Given the description of an element on the screen output the (x, y) to click on. 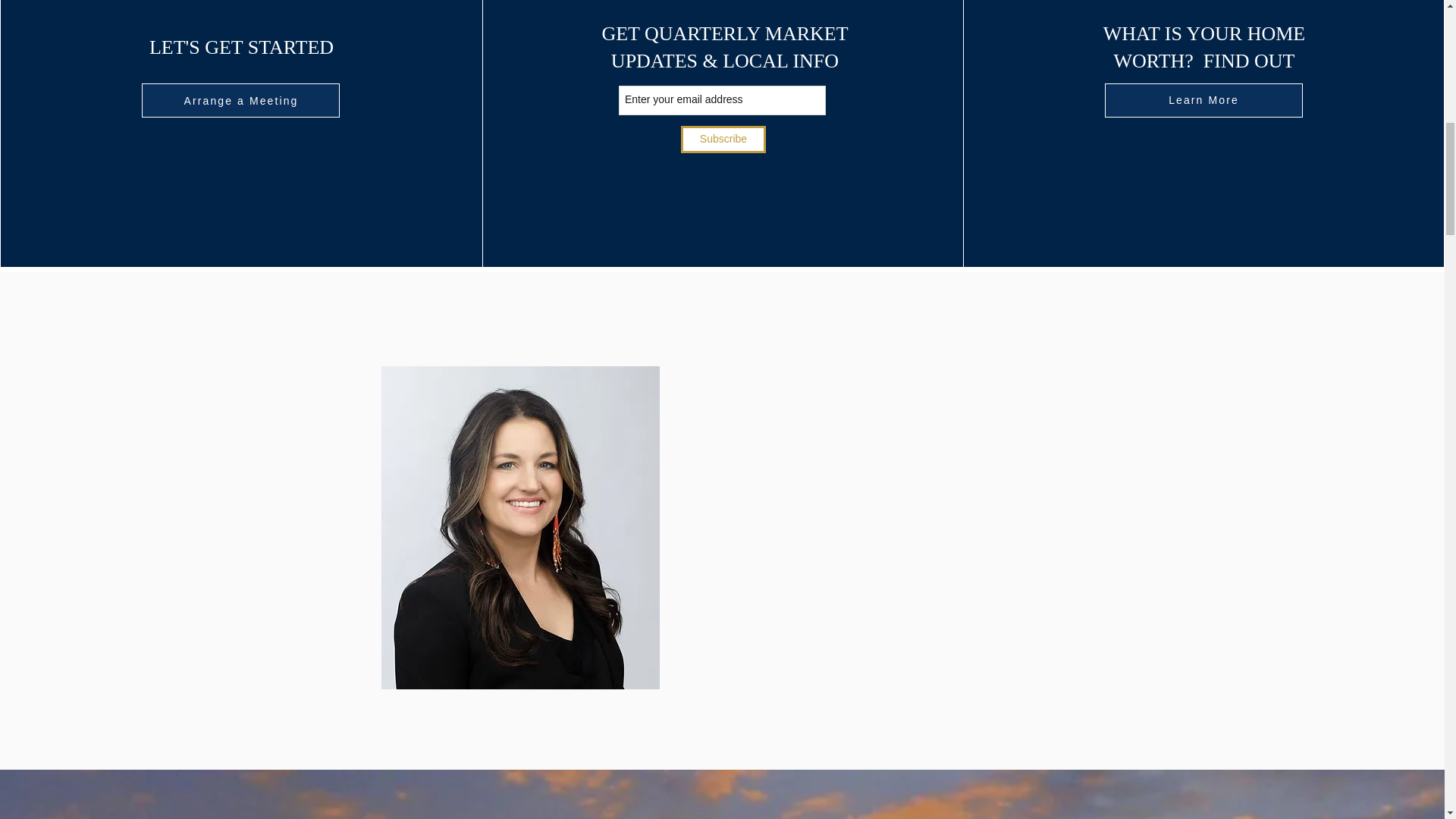
Learn More (1204, 100)
Arrange a Meeting (240, 100)
Subscribe (723, 139)
